Given the description of an element on the screen output the (x, y) to click on. 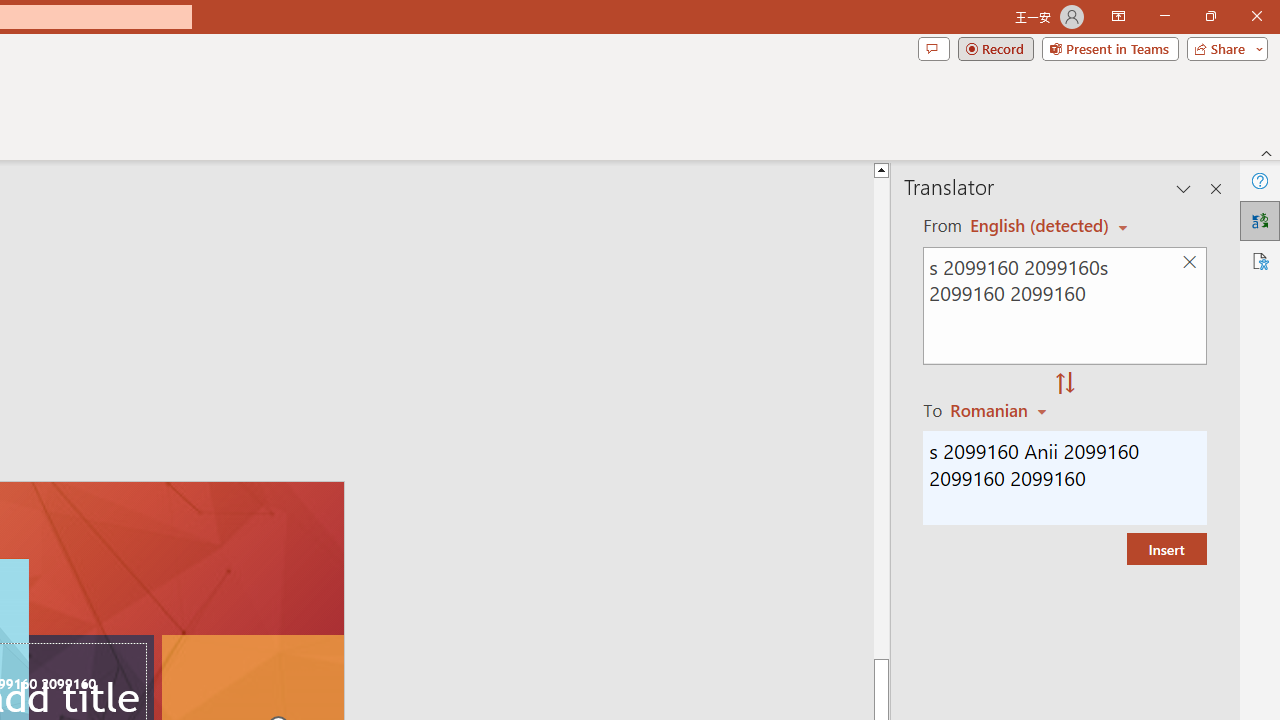
Ribbon Display Options (1118, 16)
Share (1223, 48)
Translator (1260, 220)
Help (1260, 180)
Line up (1230, 169)
Present in Teams (1109, 48)
Collapse the Ribbon (1267, 152)
Czech (detected) (1039, 225)
